Given the description of an element on the screen output the (x, y) to click on. 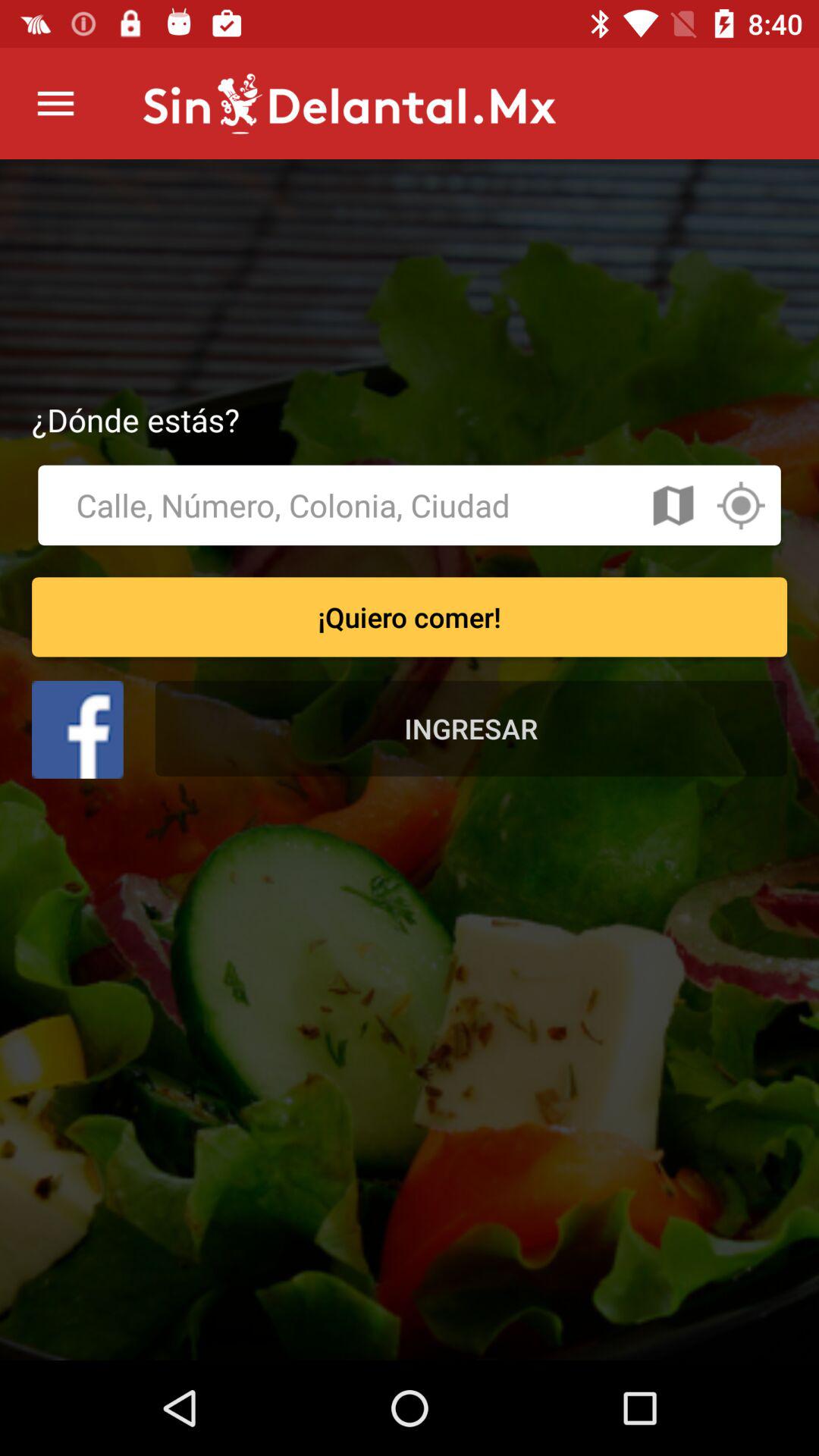
allow location access (740, 505)
